Given the description of an element on the screen output the (x, y) to click on. 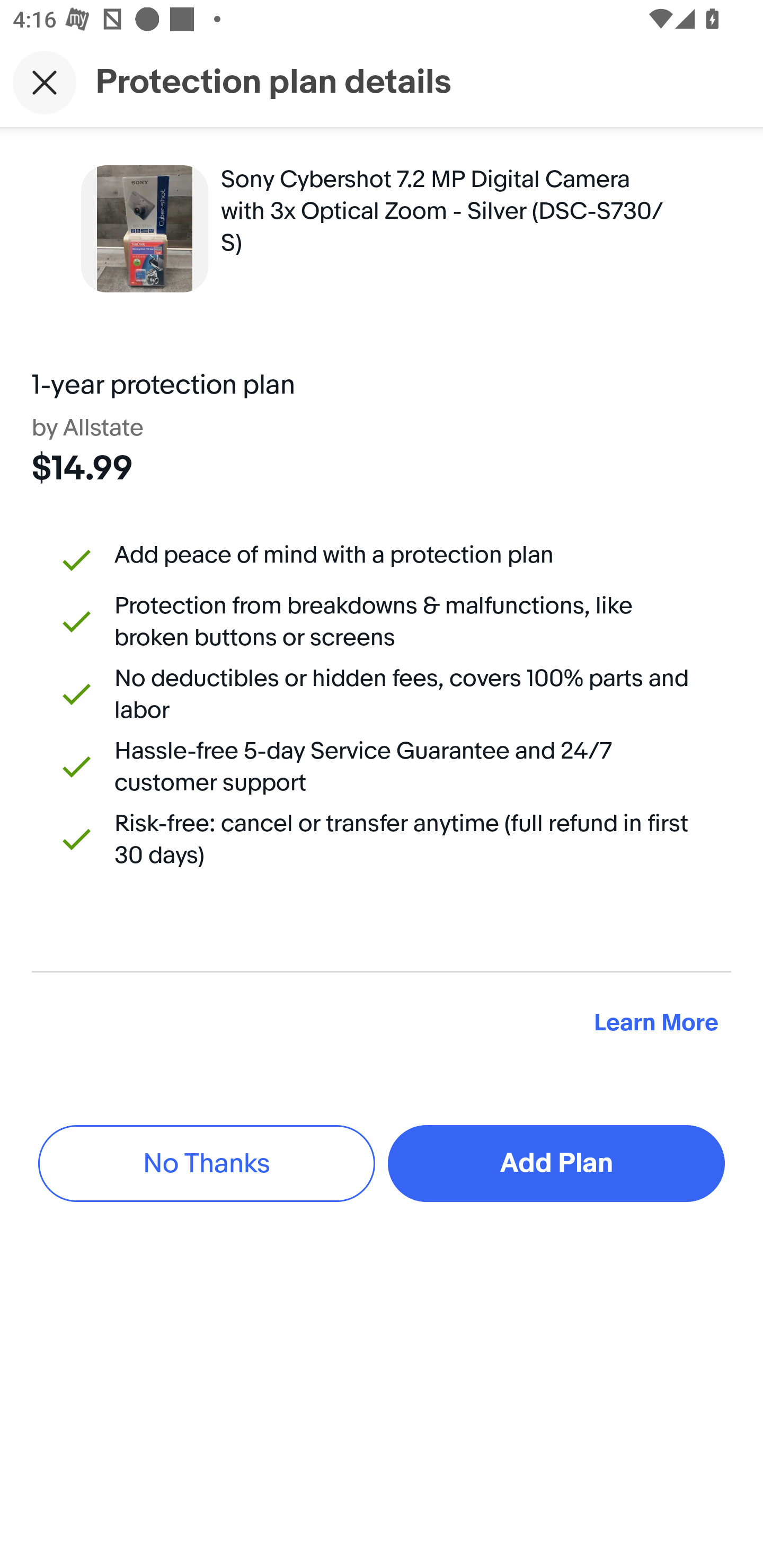
Close (44, 82)
Learn More Learn more about Protection Plan (655, 1022)
Add Plan (555, 1163)
